Given the description of an element on the screen output the (x, y) to click on. 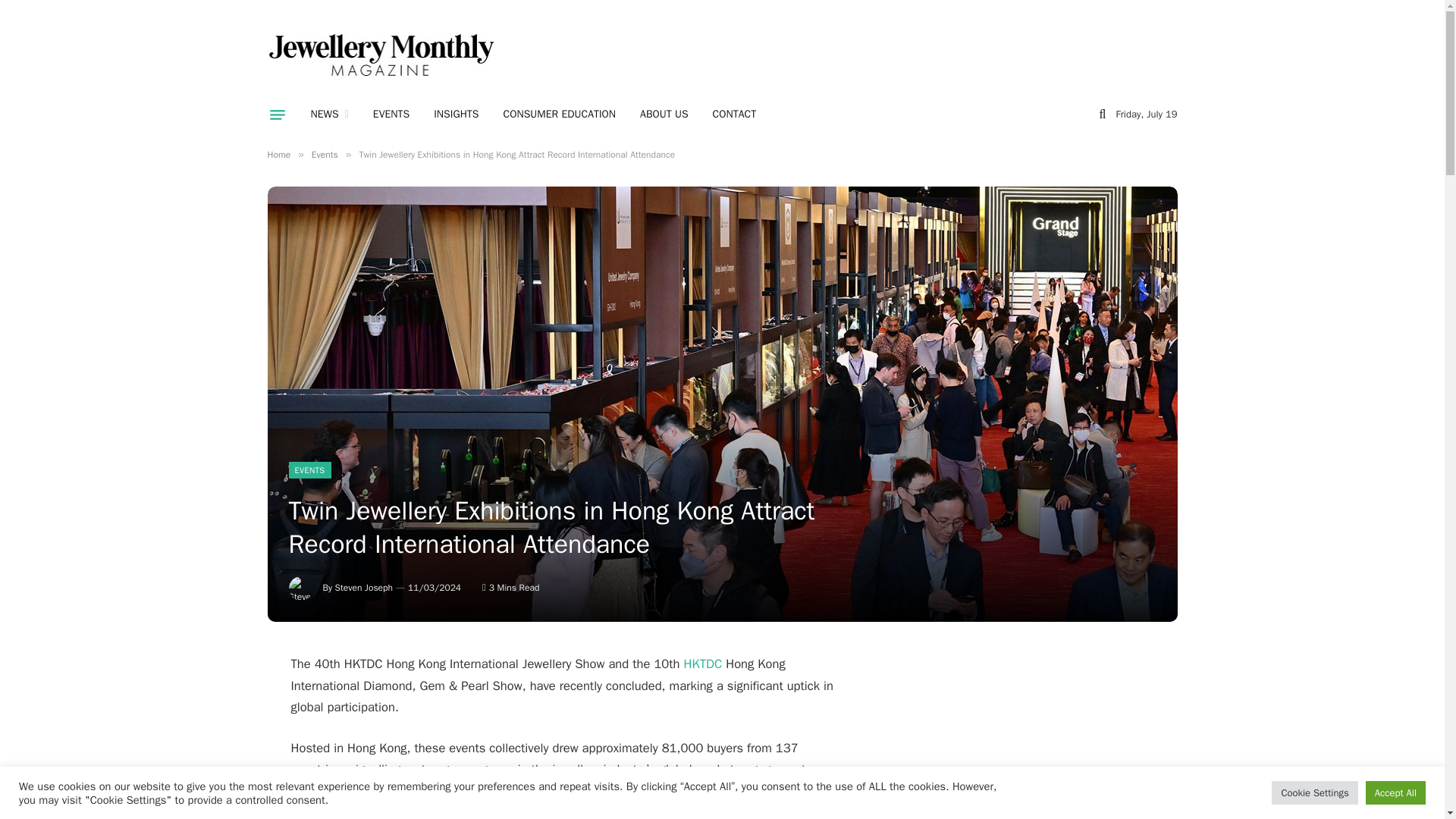
NEWS (329, 114)
Home (277, 154)
CONTACT (734, 114)
HKTDC (703, 663)
INSIGHTS (456, 114)
EVENTS (309, 469)
Posts by Steven Joseph (363, 587)
EVENTS (391, 114)
Retail Jewellery News and Industry events (329, 114)
Steven Joseph (363, 587)
CONSUMER EDUCATION (560, 114)
Jewellery Monthly (380, 54)
ABOUT US (663, 114)
Events (324, 154)
